Given the description of an element on the screen output the (x, y) to click on. 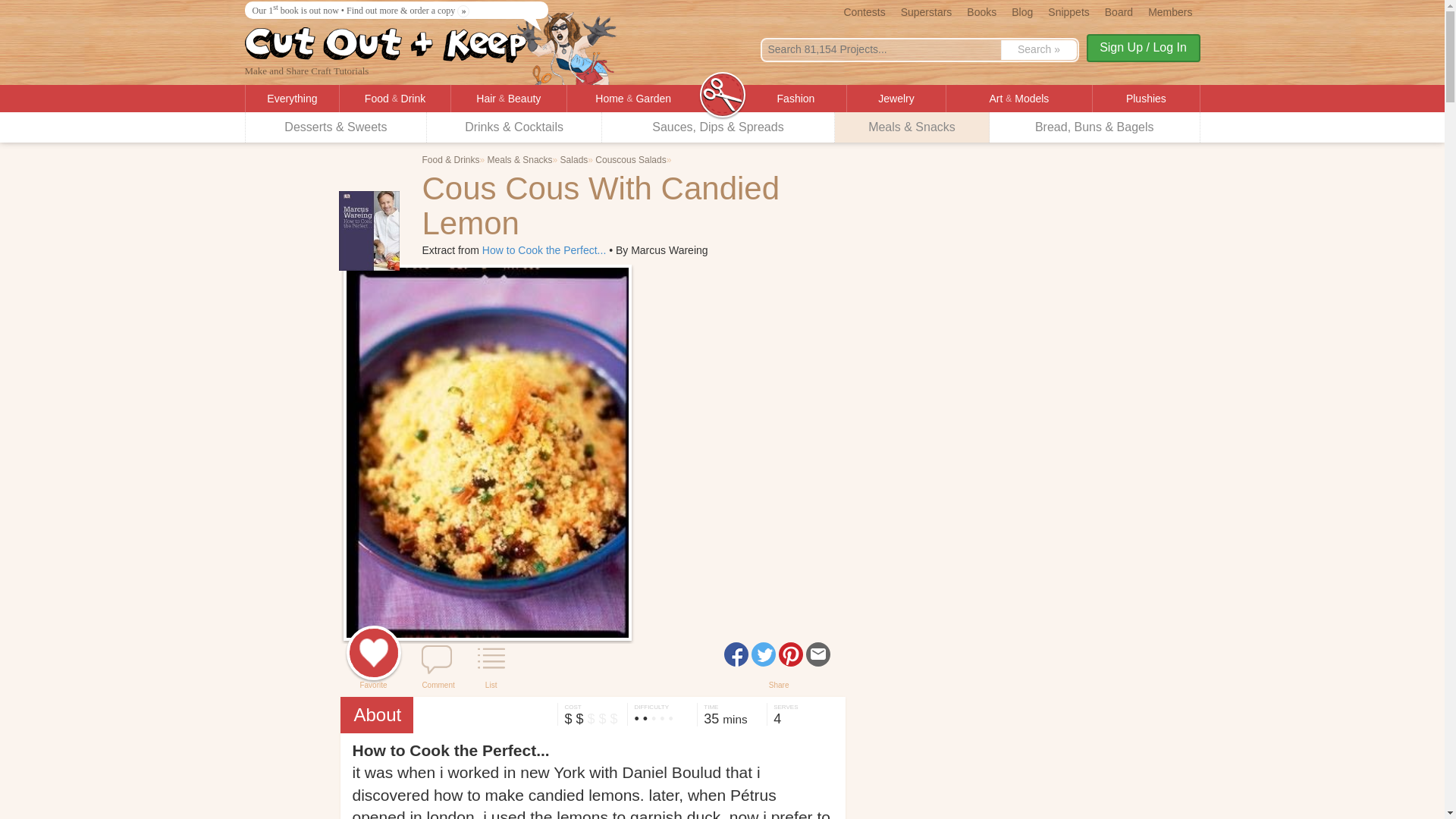
Share this project in an email (817, 654)
Add this project to a list (491, 660)
Leave a comment (436, 660)
Everything (292, 98)
Contests (863, 10)
Books (981, 10)
Superstars (926, 10)
Snippets (1068, 10)
Share this project on Facebook (735, 654)
Share this project on Pinterest (790, 654)
Blog (1022, 10)
Share this project on Twitter (763, 654)
Board (1118, 10)
Members (1169, 10)
Advertisement (989, 375)
